Given the description of an element on the screen output the (x, y) to click on. 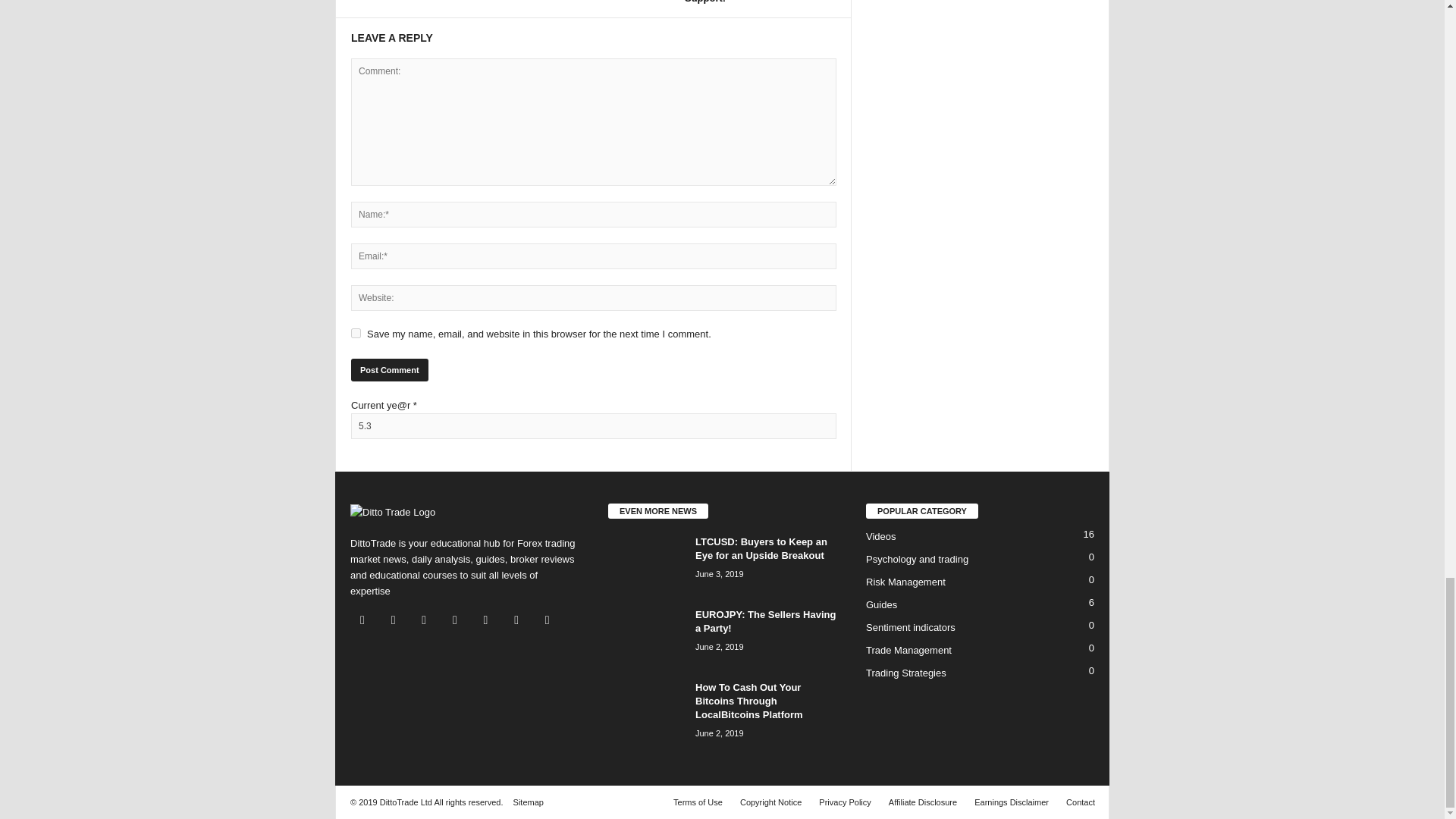
Post Comment (389, 369)
yes (355, 333)
5.3 (592, 425)
